Given the description of an element on the screen output the (x, y) to click on. 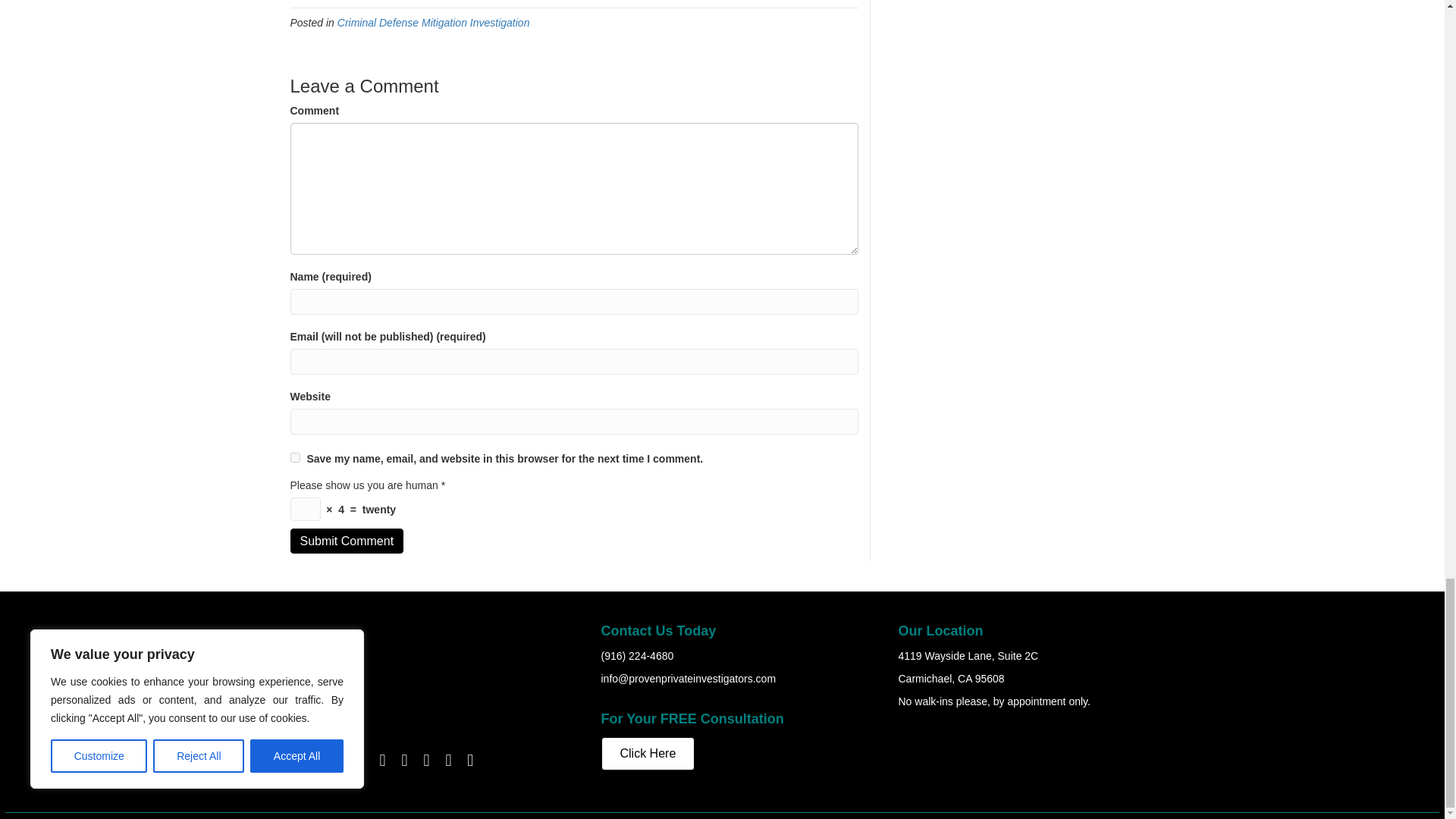
Submit Comment (346, 540)
yes (294, 457)
Proven Private Investigators logo web (426, 682)
